Given the description of an element on the screen output the (x, y) to click on. 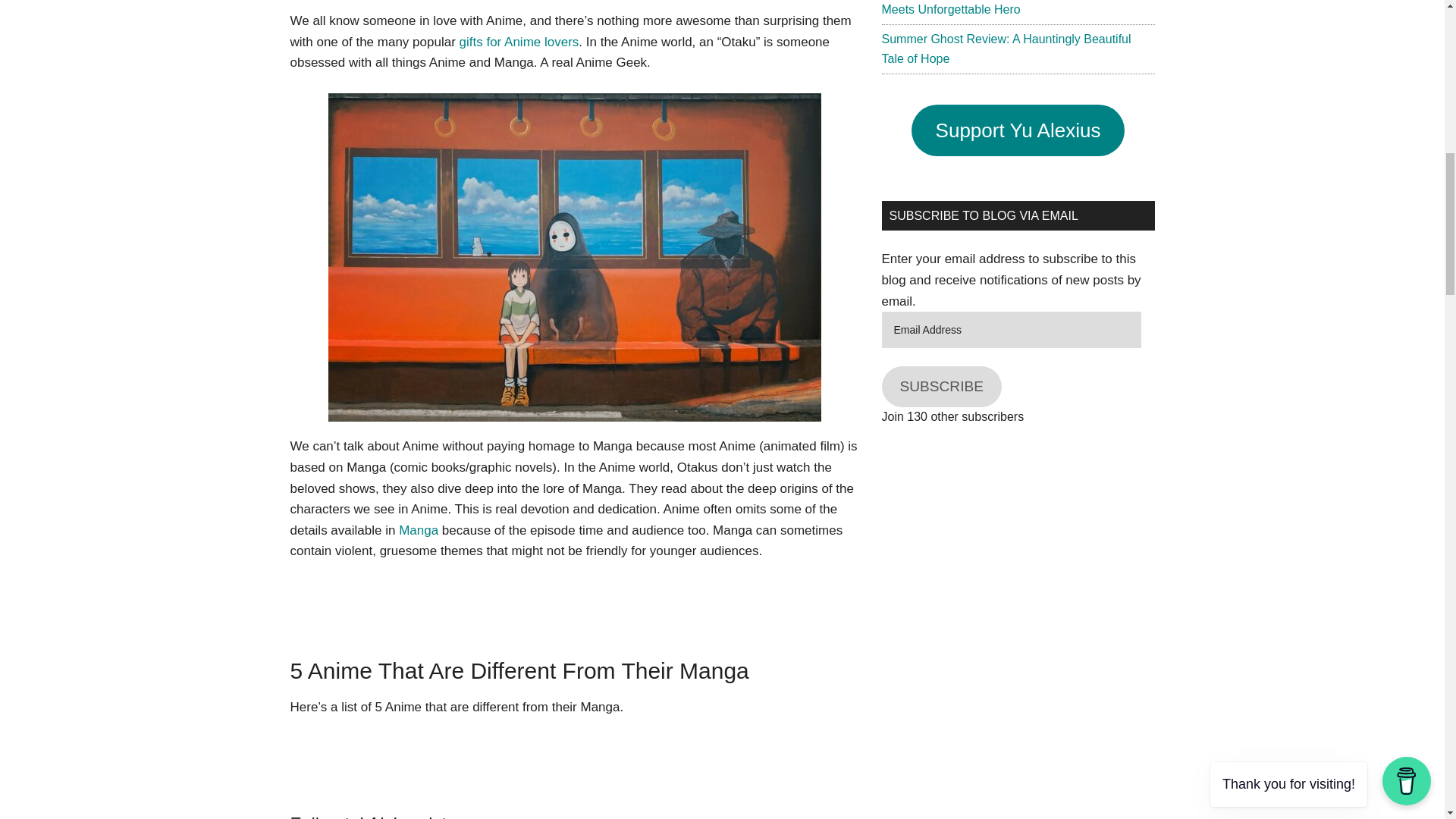
Summer Ghost Review: A Hauntingly Beautiful Tale of Hope (1005, 48)
Support Yu Alexius (1017, 130)
SUBSCRIBE (940, 386)
gifts for Anime lovers (519, 42)
Manga (418, 530)
